Given the description of an element on the screen output the (x, y) to click on. 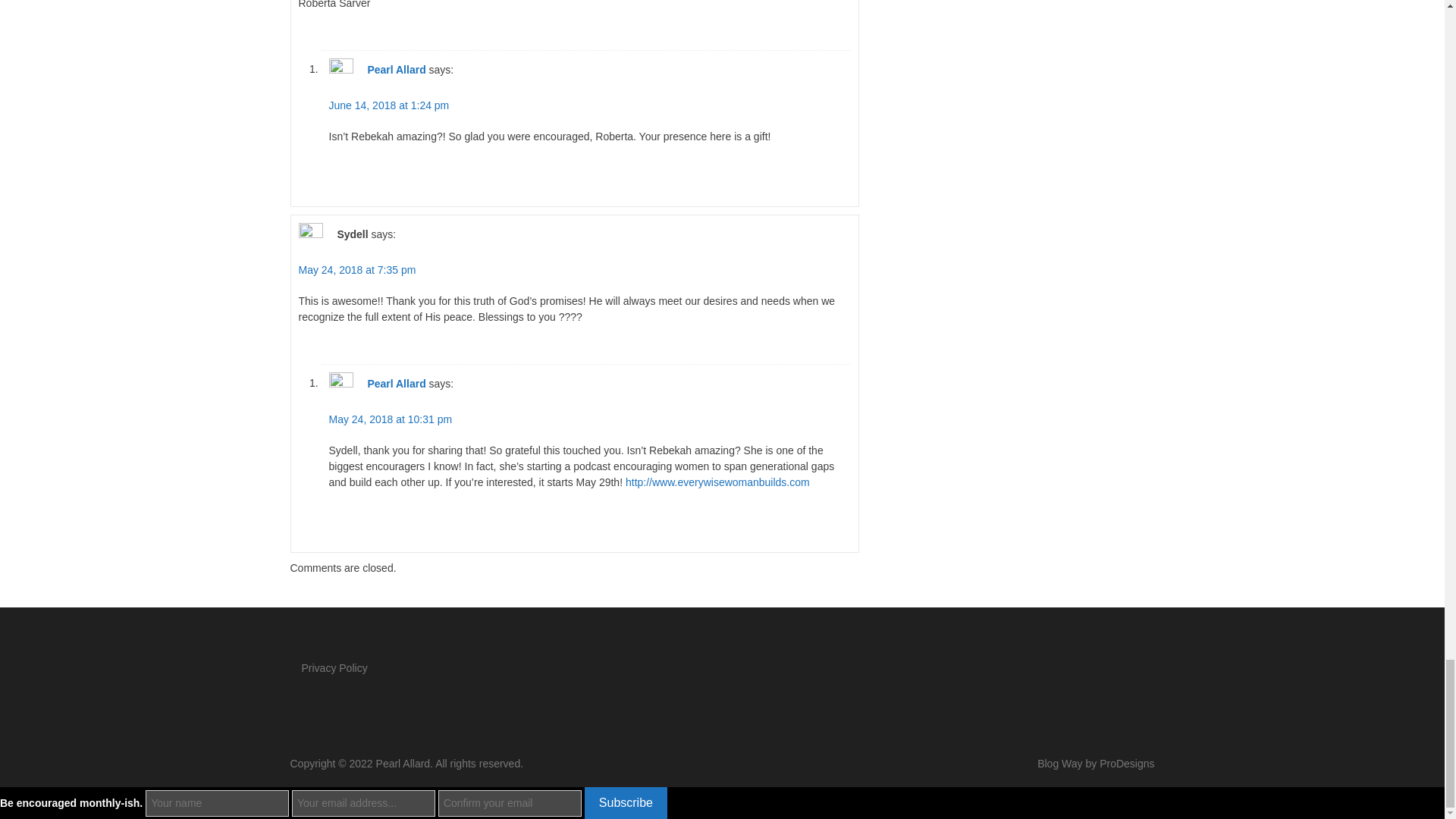
May 24, 2018 at 7:35 pm (357, 269)
May 24, 2018 at 10:31 pm (390, 419)
Pearl Allard (395, 382)
Pearl Allard (395, 69)
June 14, 2018 at 1:24 pm (389, 105)
